Given the description of an element on the screen output the (x, y) to click on. 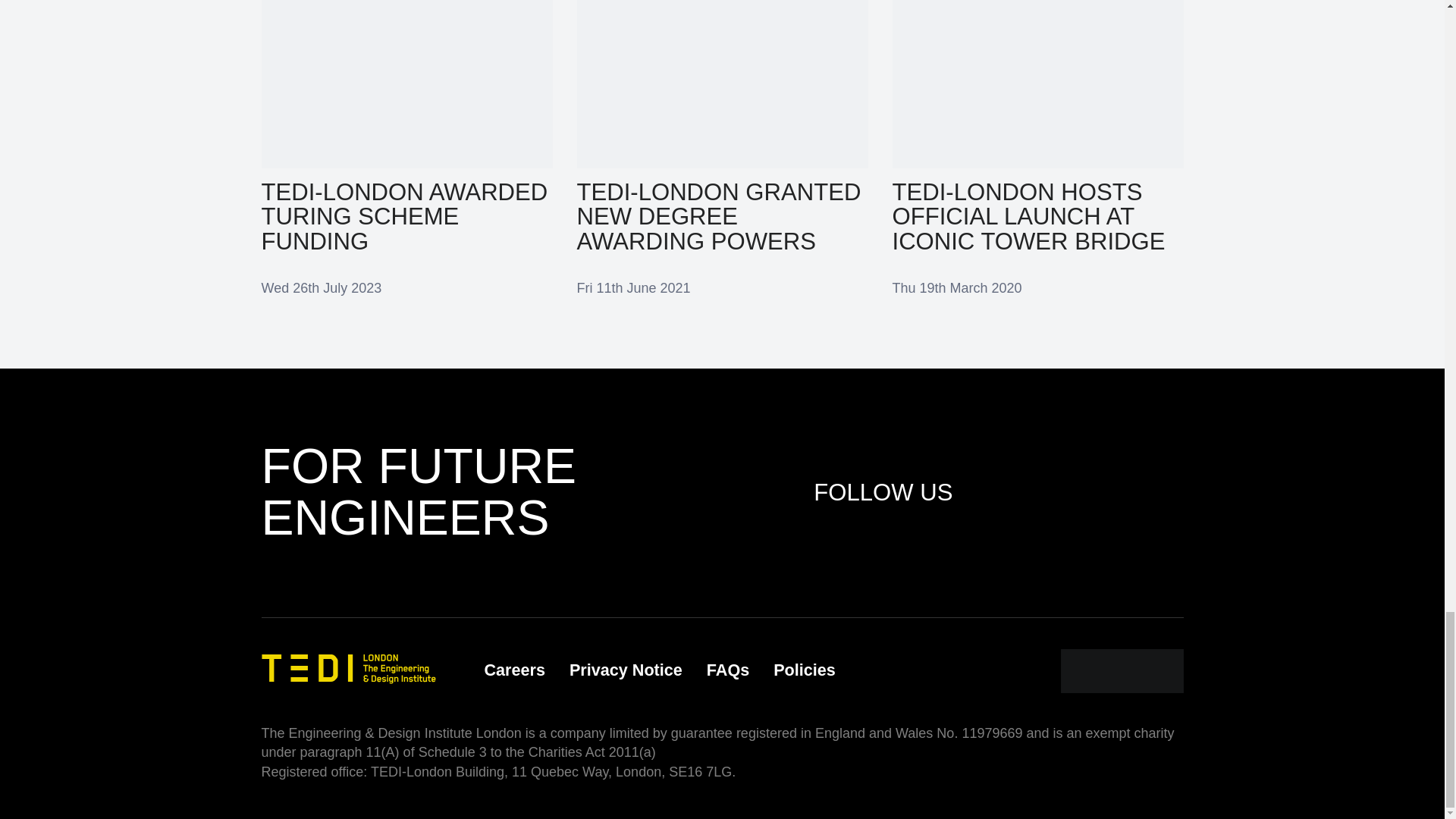
TEDI-London awarded Turing Scheme funding (405, 148)
TEDI-London hosts official launch at iconic Tower Bridge (1036, 148)
TEDI-London granted new degree awarding powers (721, 148)
